Given the description of an element on the screen output the (x, y) to click on. 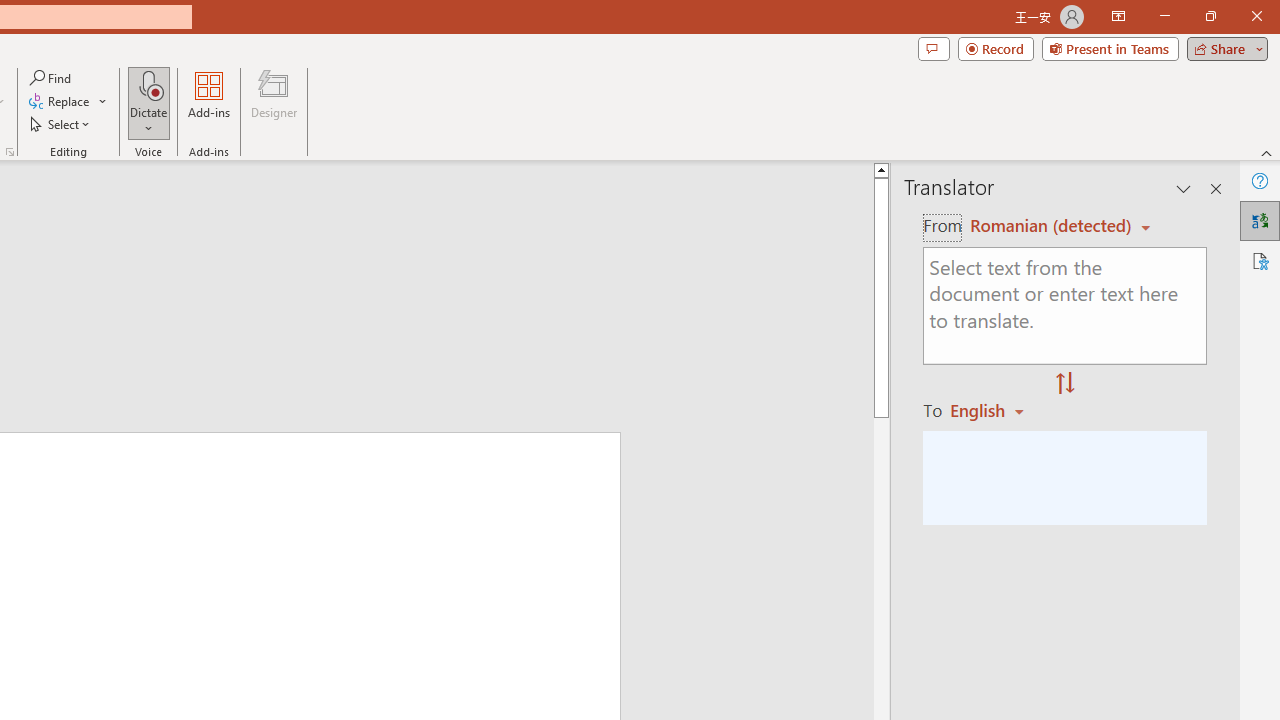
Romanian (detected) (1047, 225)
Romanian (994, 409)
